Given the description of an element on the screen output the (x, y) to click on. 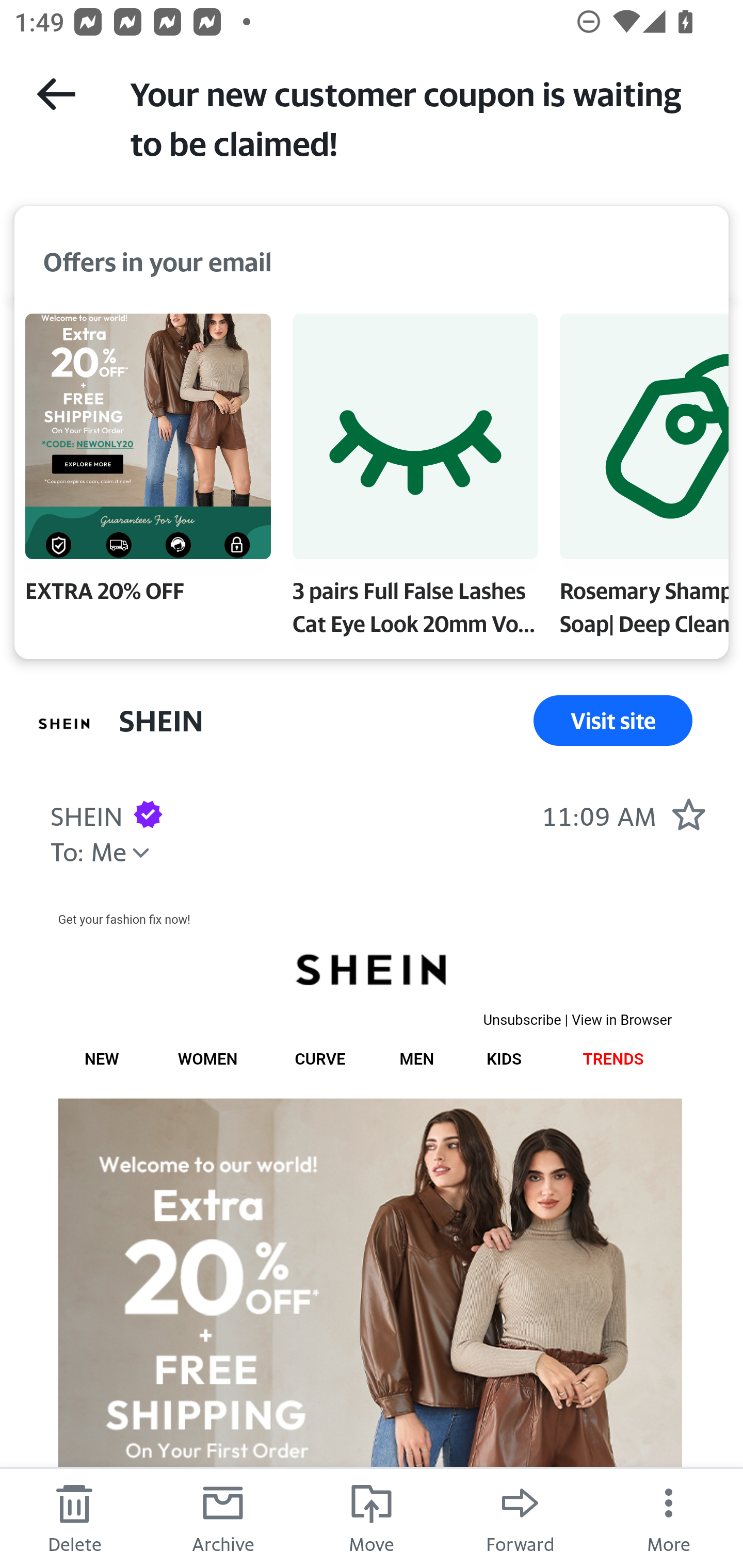
Back (55, 93)
Your new customer coupon is waiting to be claimed! (418, 116)
EXTRA 20% OFF (147, 462)
View all messages from sender (64, 723)
Visit site Visit Site Link (612, 720)
SHEIN Sender SHEIN (160, 720)
SHEIN Sender SHEIN (86, 814)
Mark as starred. (688, 814)
Get your fashion fix now! (123, 919)
SHEIN (369, 969)
Unsubscribe (521, 1019)
View in Browser (622, 1019)
NEW (100, 1058)
WOMEN (207, 1058)
CURVE (319, 1058)
MEN (415, 1058)
KIDS (503, 1058)
TRENDS (612, 1058)
EXTRA 20% OFF (369, 1332)
Delete (74, 1517)
Archive (222, 1517)
Move (371, 1517)
Forward (519, 1517)
More (668, 1517)
